Given the description of an element on the screen output the (x, y) to click on. 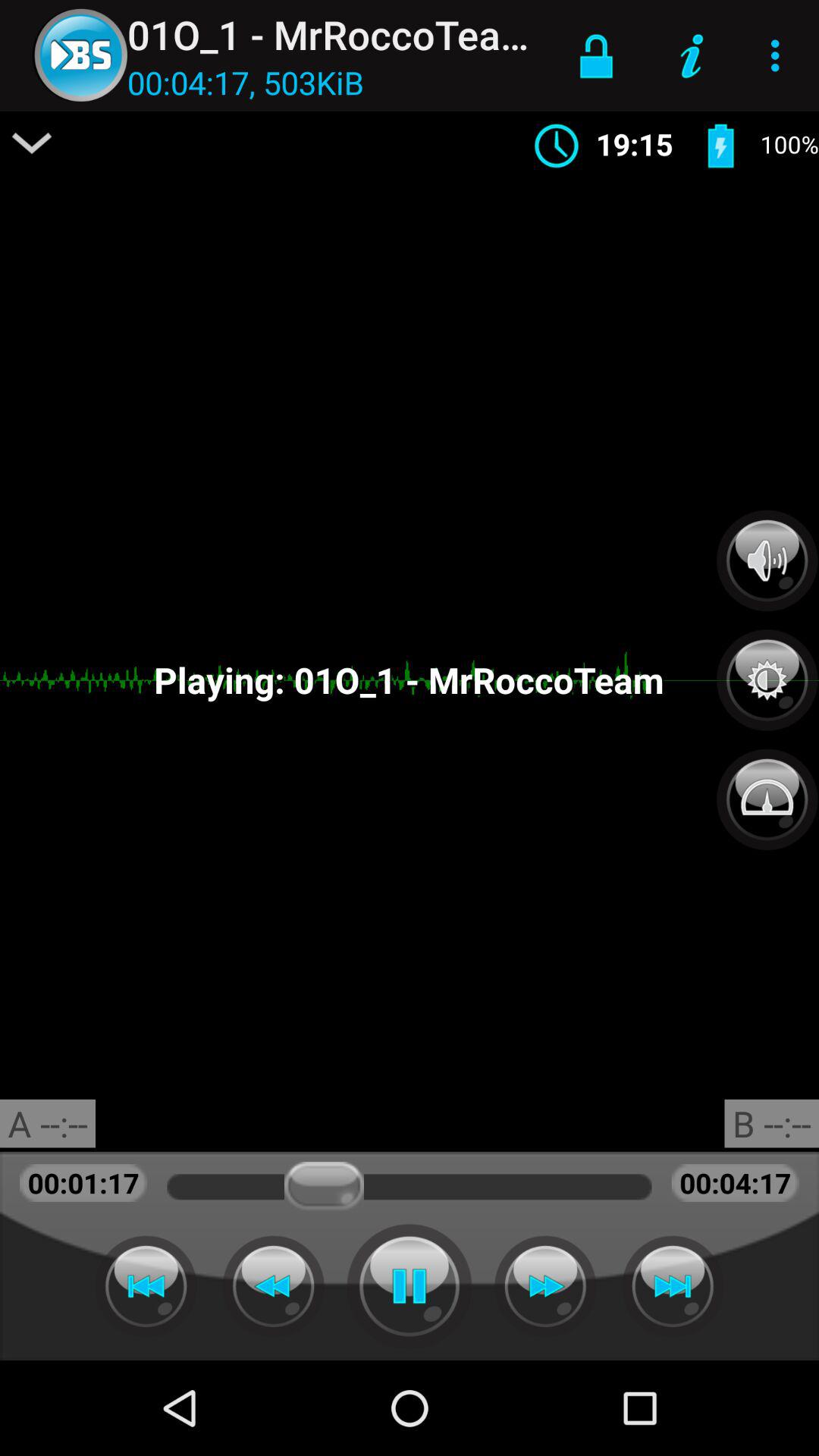
set brightness settings (767, 671)
